Given the description of an element on the screen output the (x, y) to click on. 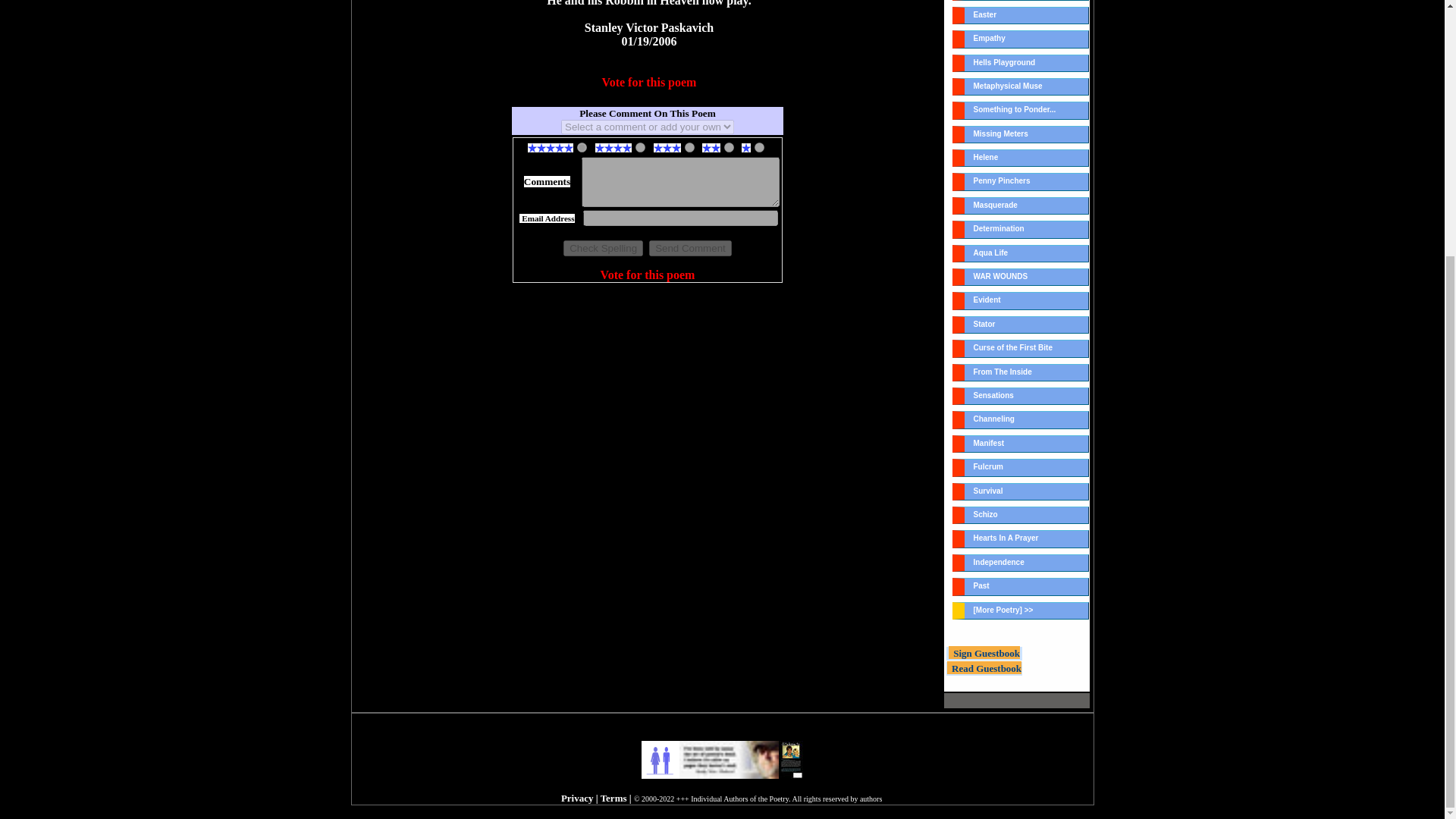
Good (639, 147)
Average (689, 147)
Determination (1020, 229)
Fulcrum (1020, 466)
Helene (1020, 158)
Channeling (1020, 419)
Excellent (581, 147)
Easter (1020, 15)
Curse of the First Bite (1020, 348)
Hells Playground (1020, 63)
Something to Ponder... (1020, 109)
Survival (1020, 491)
Bad (759, 147)
Poor (728, 147)
Stator (1020, 324)
